Given the description of an element on the screen output the (x, y) to click on. 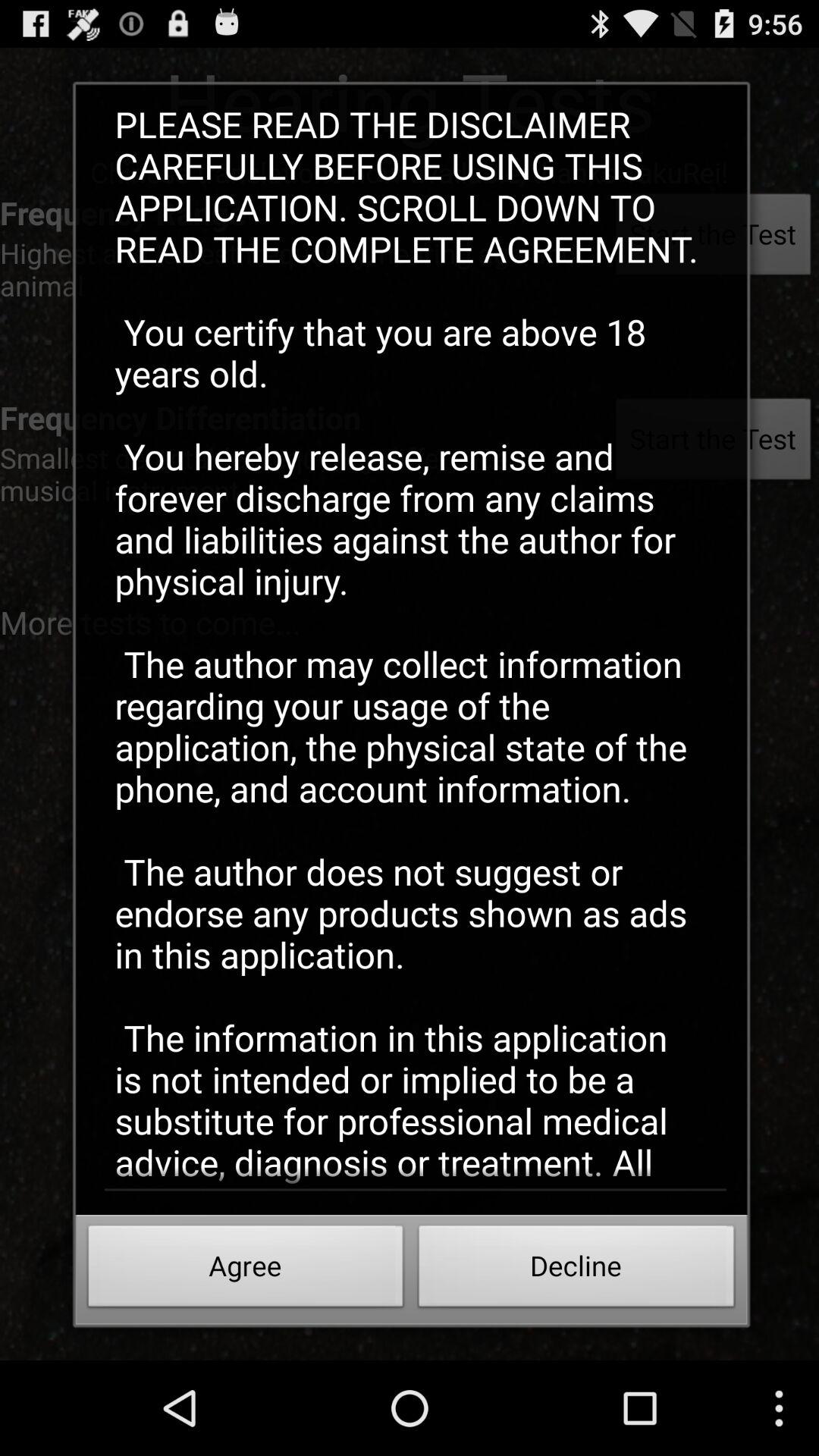
choose the decline item (576, 1270)
